Given the description of an element on the screen output the (x, y) to click on. 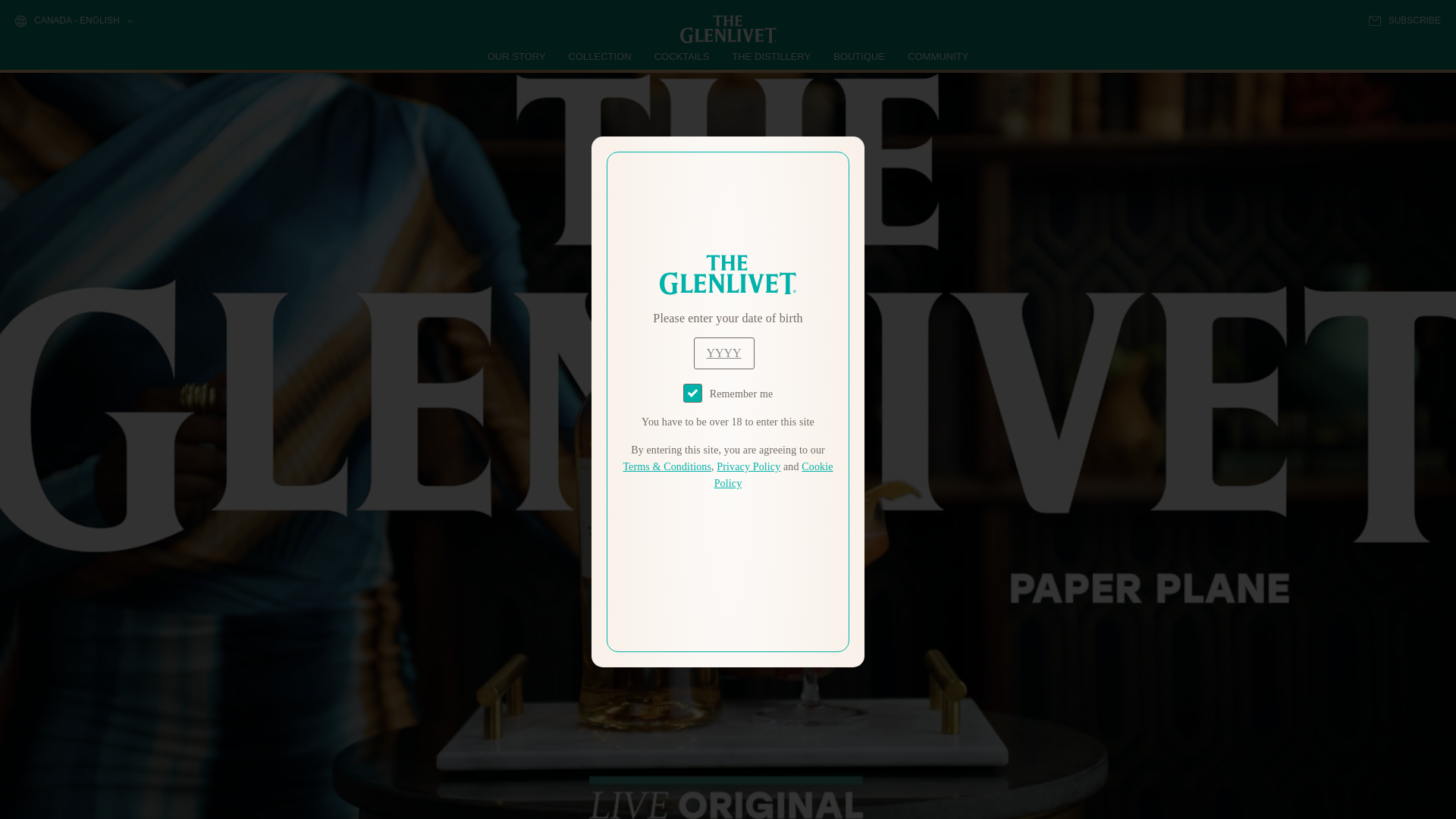
Cookie Policy (773, 474)
year (723, 353)
Privacy Policy (748, 466)
THE DISTILLERY (771, 56)
COLLECTION (600, 56)
CANADA - ENGLISH (73, 21)
BOUTIQUE (858, 56)
SUBSCRIBE (1404, 20)
OUR STORY (516, 56)
COCKTAILS (681, 56)
COMMUNITY (937, 56)
